Given the description of an element on the screen output the (x, y) to click on. 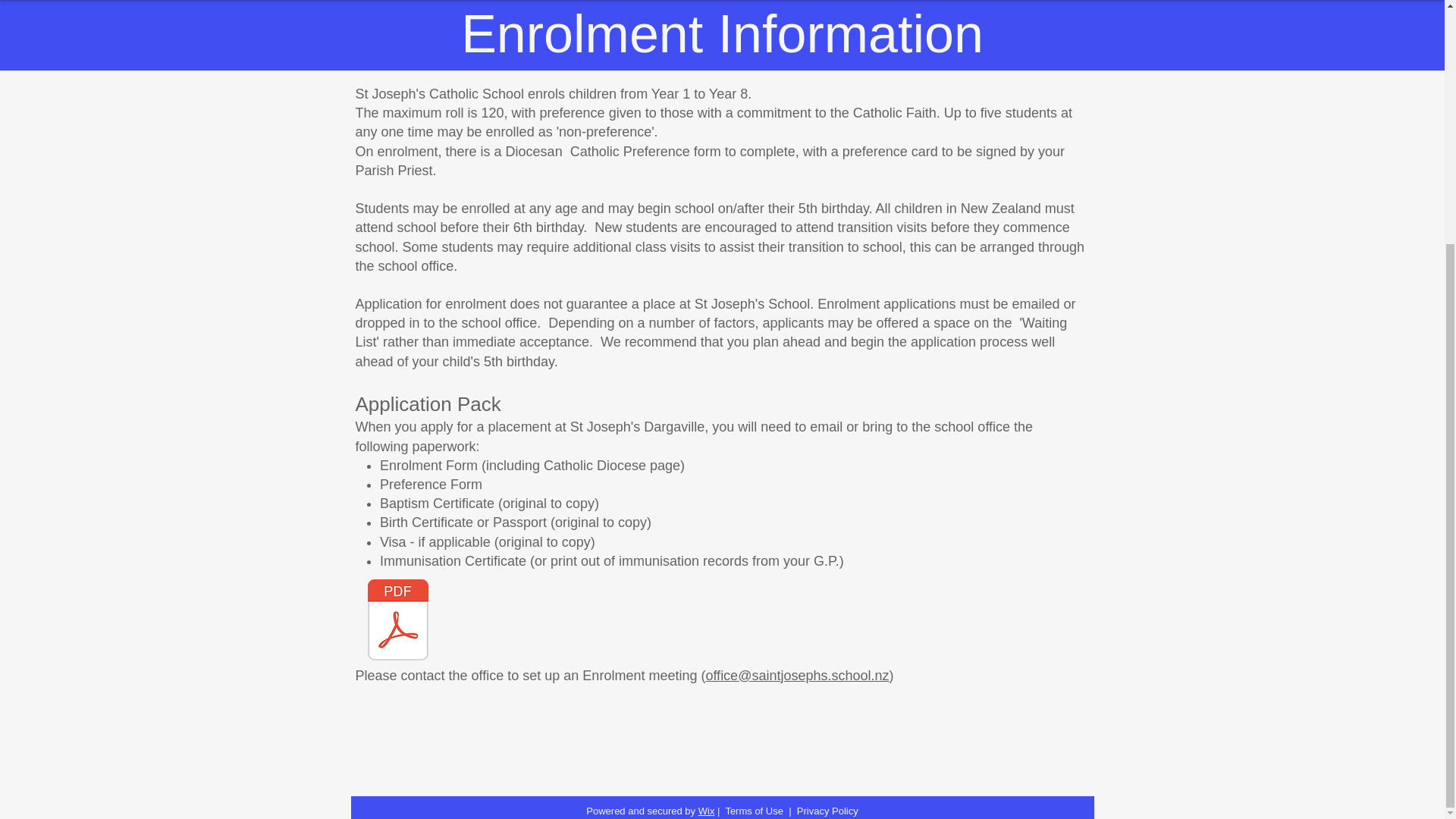
Wix (706, 810)
Privacy Policy (827, 810)
Terms of Use (754, 810)
